Given the description of an element on the screen output the (x, y) to click on. 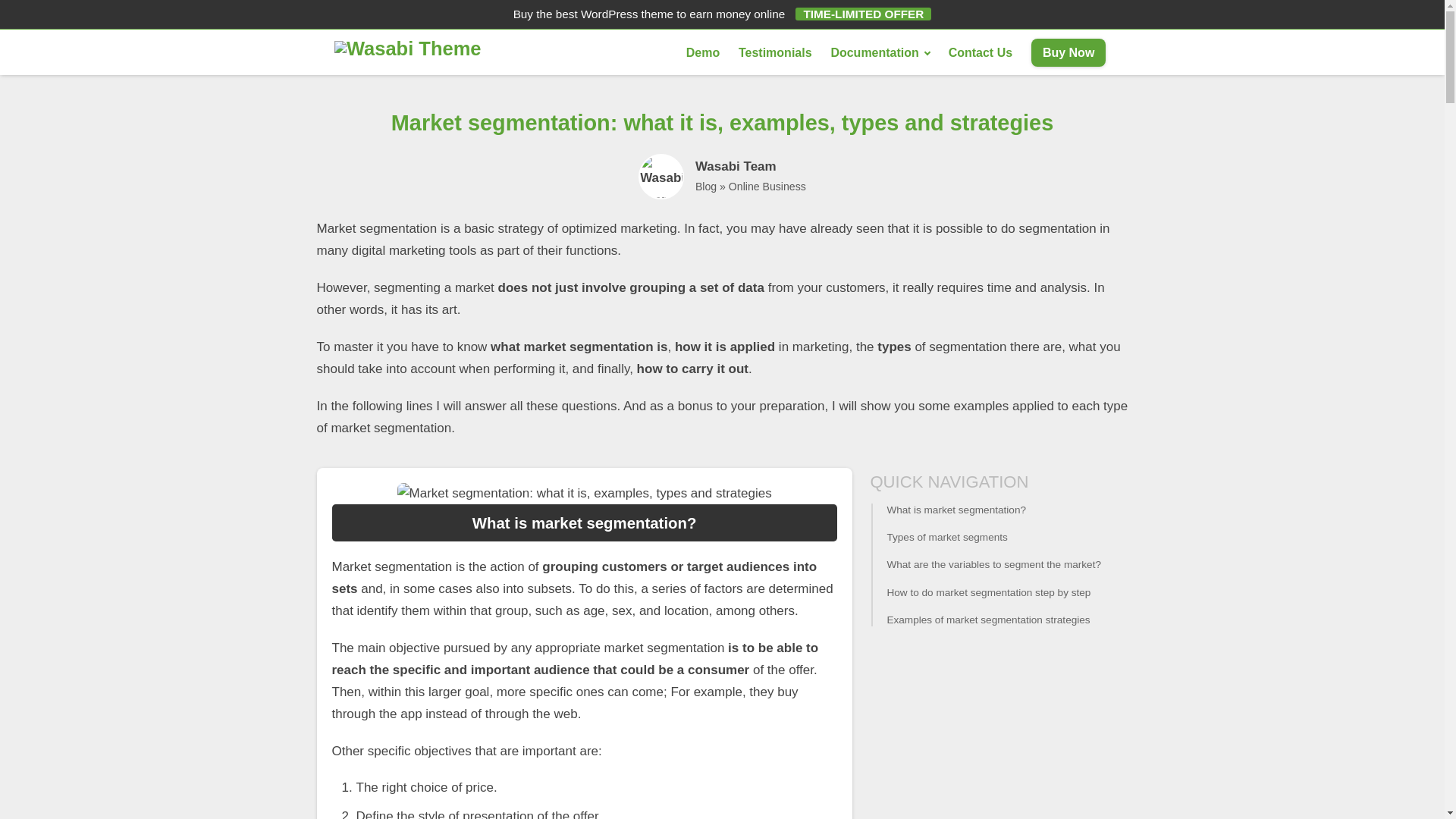
Demo (702, 51)
Documentation (878, 51)
Blog (705, 186)
Buy Now (1067, 51)
Testimonials (775, 51)
What is market segmentation? (999, 509)
Contact Us (980, 51)
How to do market segmentation step by step (999, 592)
Types of market segments (999, 537)
